Given the description of an element on the screen output the (x, y) to click on. 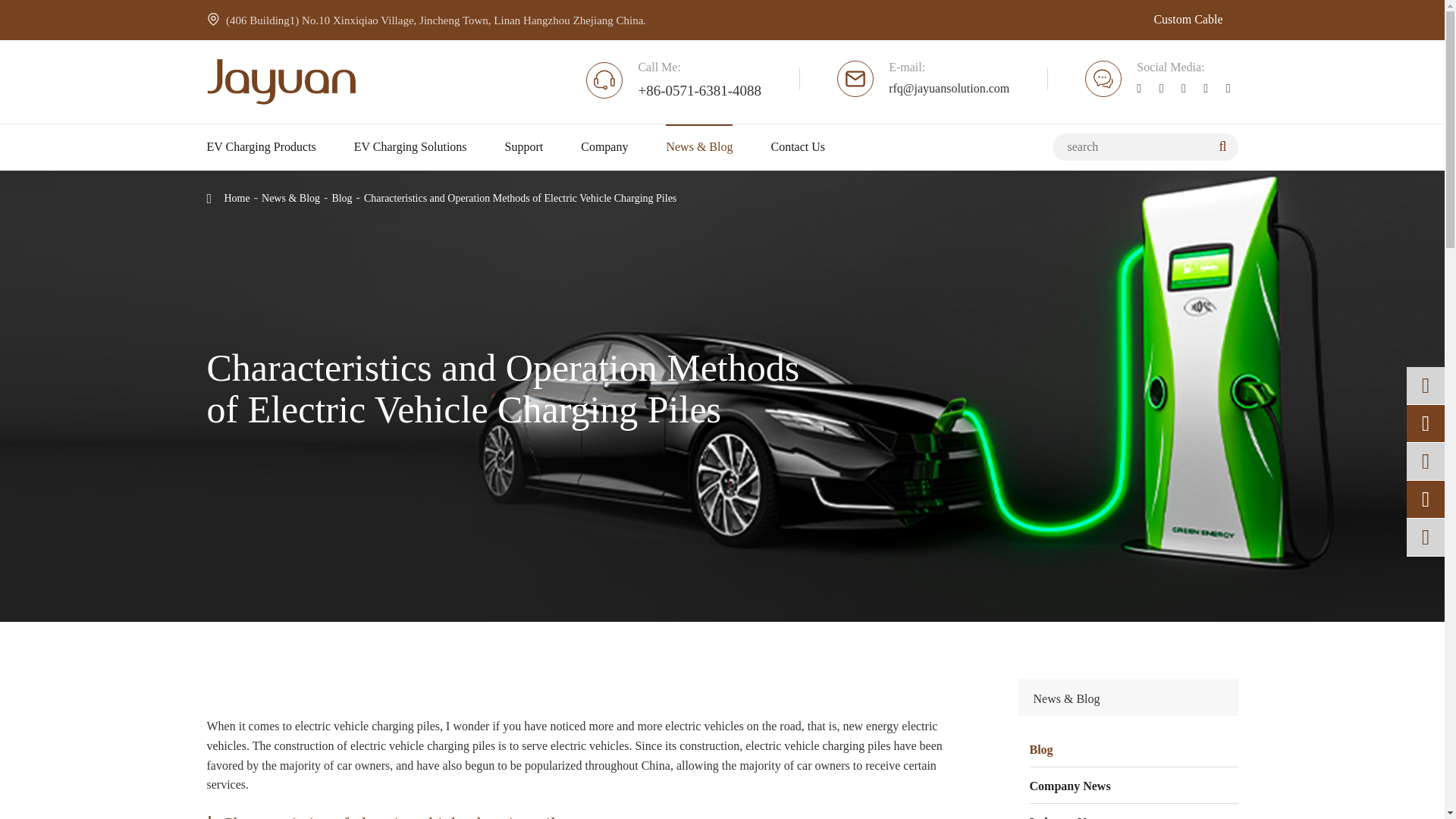
EV Charging Solutions (410, 147)
EV Charging Products (260, 147)
Company (603, 147)
Custom Cable (1188, 19)
Blog (1134, 749)
Hangzhou Jiayuan Import and Export Co., Ltd. (280, 81)
Blog (341, 197)
